Given the description of an element on the screen output the (x, y) to click on. 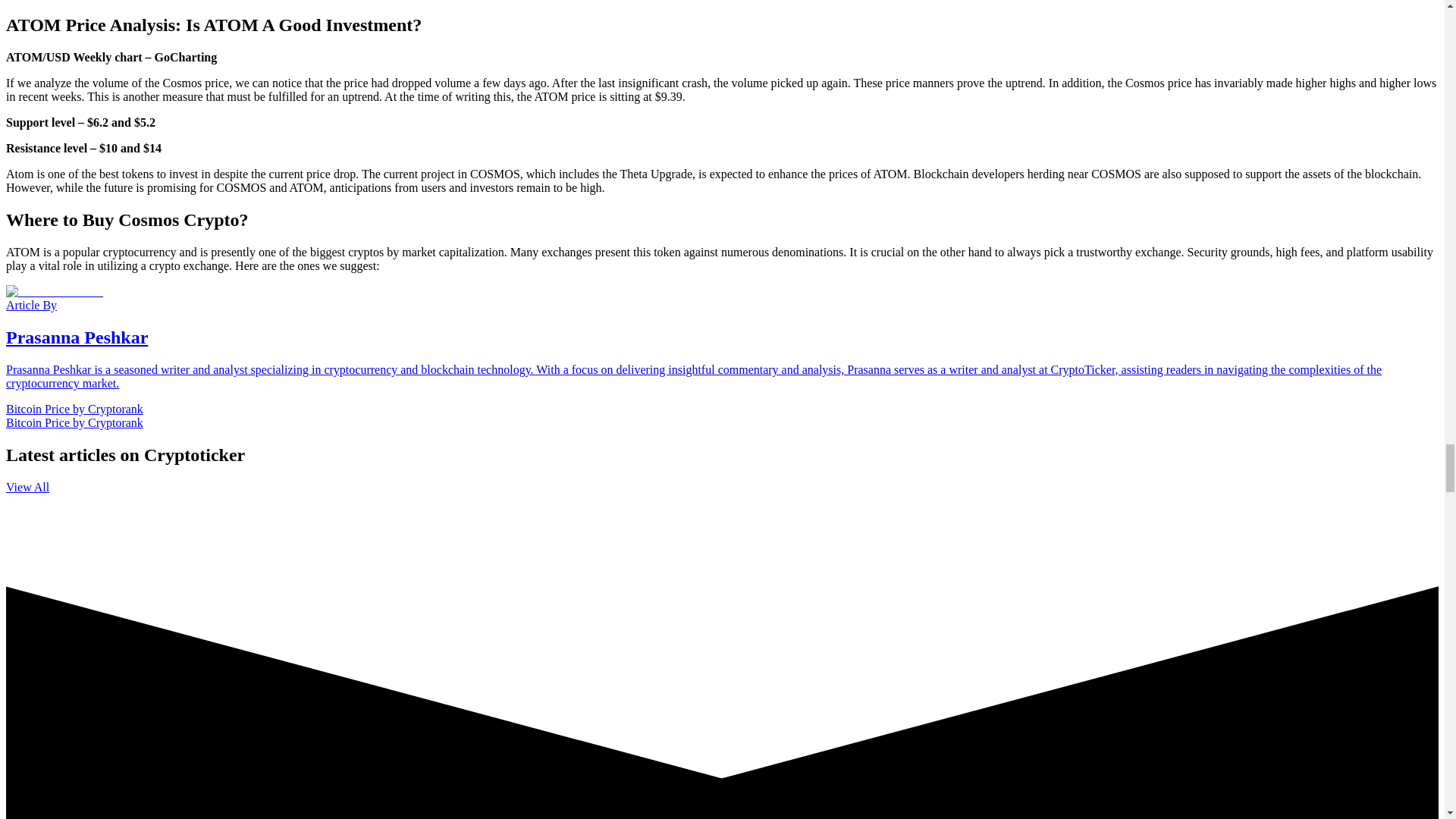
Bitcoin Price by Cryptorank (73, 422)
Bitcoin Price by Cryptorank (73, 408)
View All (27, 486)
